Given the description of an element on the screen output the (x, y) to click on. 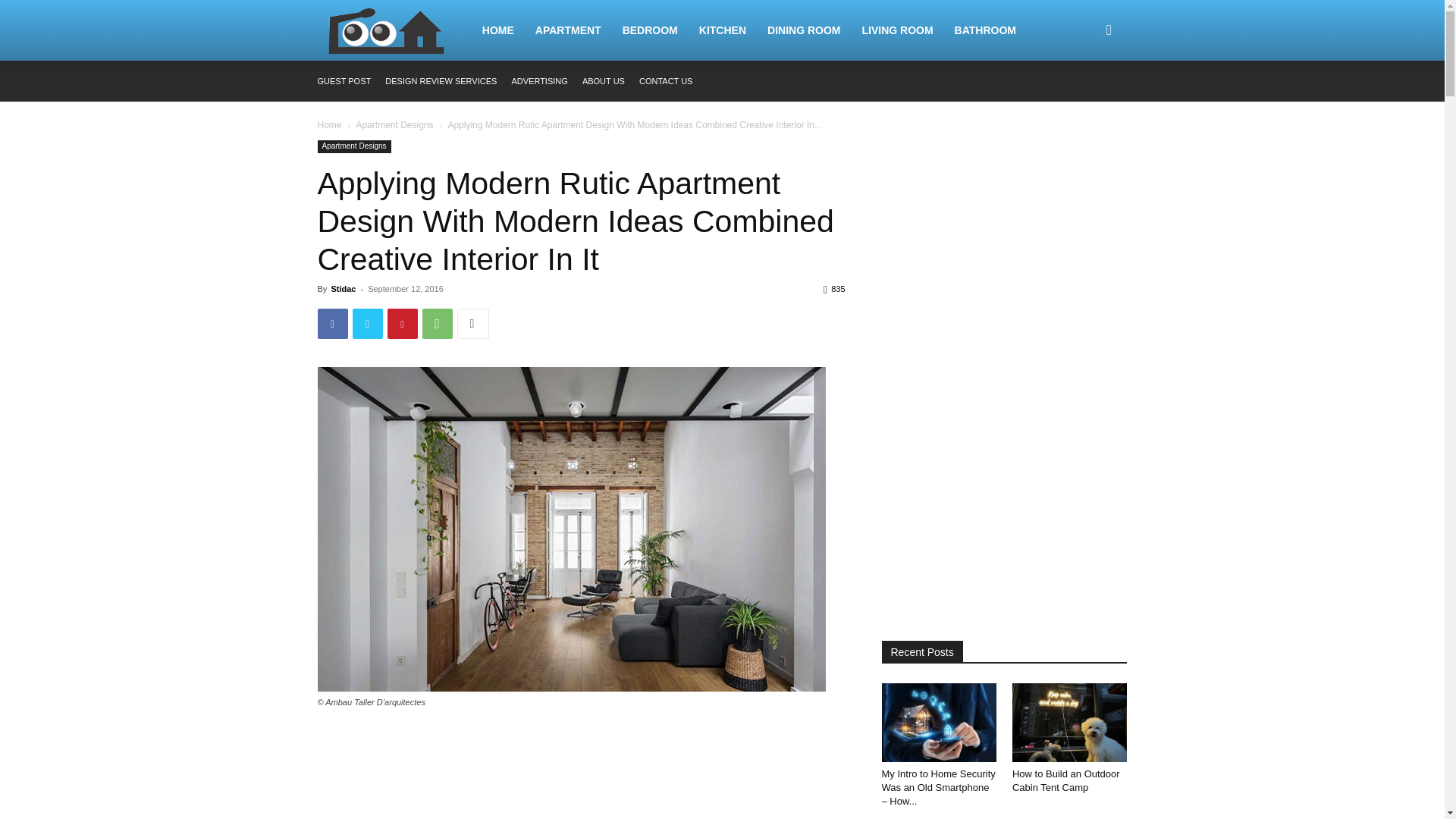
Pinterest (401, 323)
GUEST POST (344, 80)
ADVERTISING (539, 80)
View all posts in Apartment Designs (393, 124)
DESIGN REVIEW SERVICES (440, 80)
Advertisement (580, 773)
More (472, 323)
APARTMENT (567, 30)
ABOUT US (603, 80)
Stidac (342, 288)
Apartment Designs (353, 146)
BEDROOM (649, 30)
BATHROOM (984, 30)
Facebook (332, 323)
LIVING ROOM (896, 30)
